Given the description of an element on the screen output the (x, y) to click on. 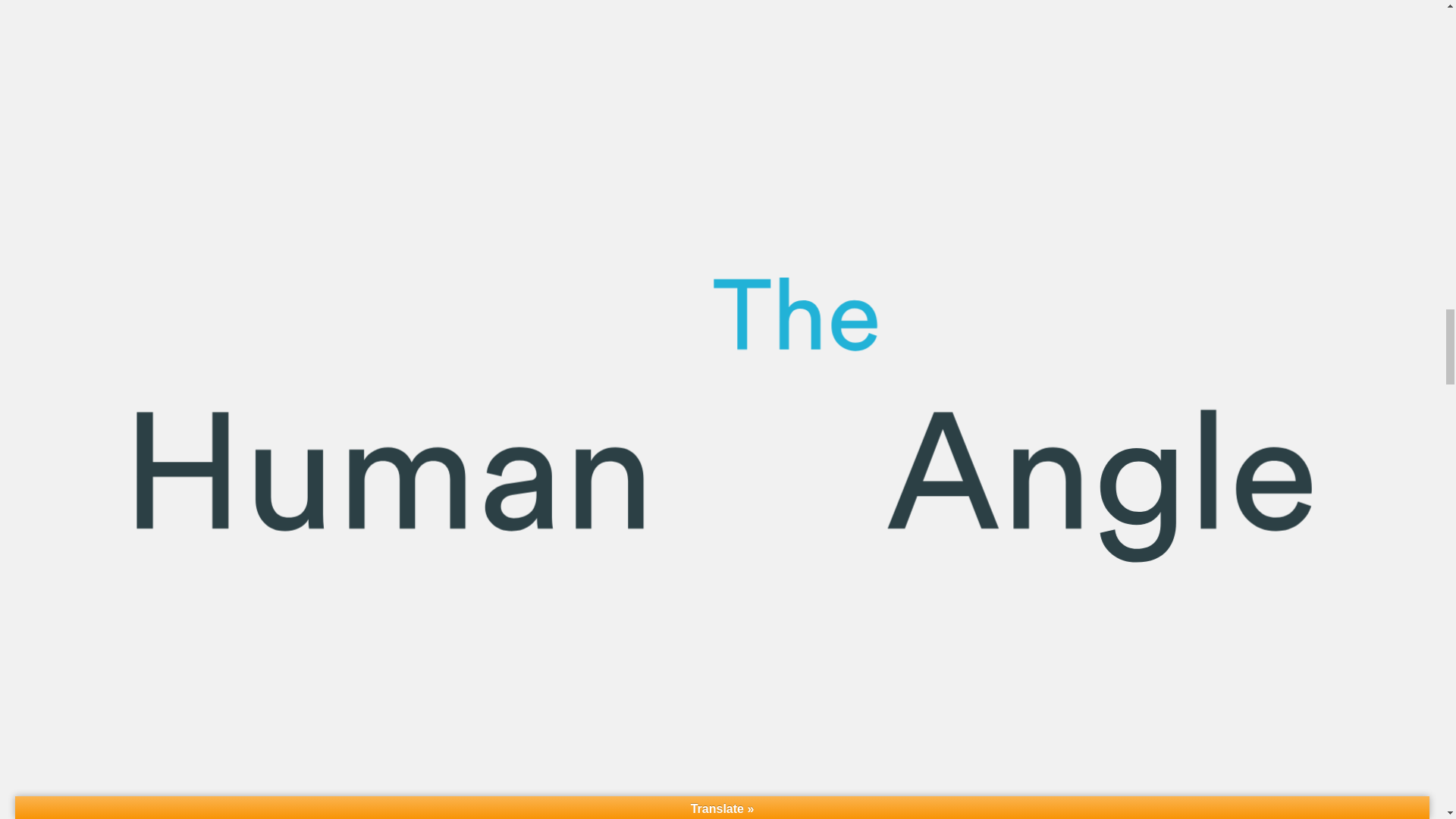
Subscribe (721, 567)
